Given the description of an element on the screen output the (x, y) to click on. 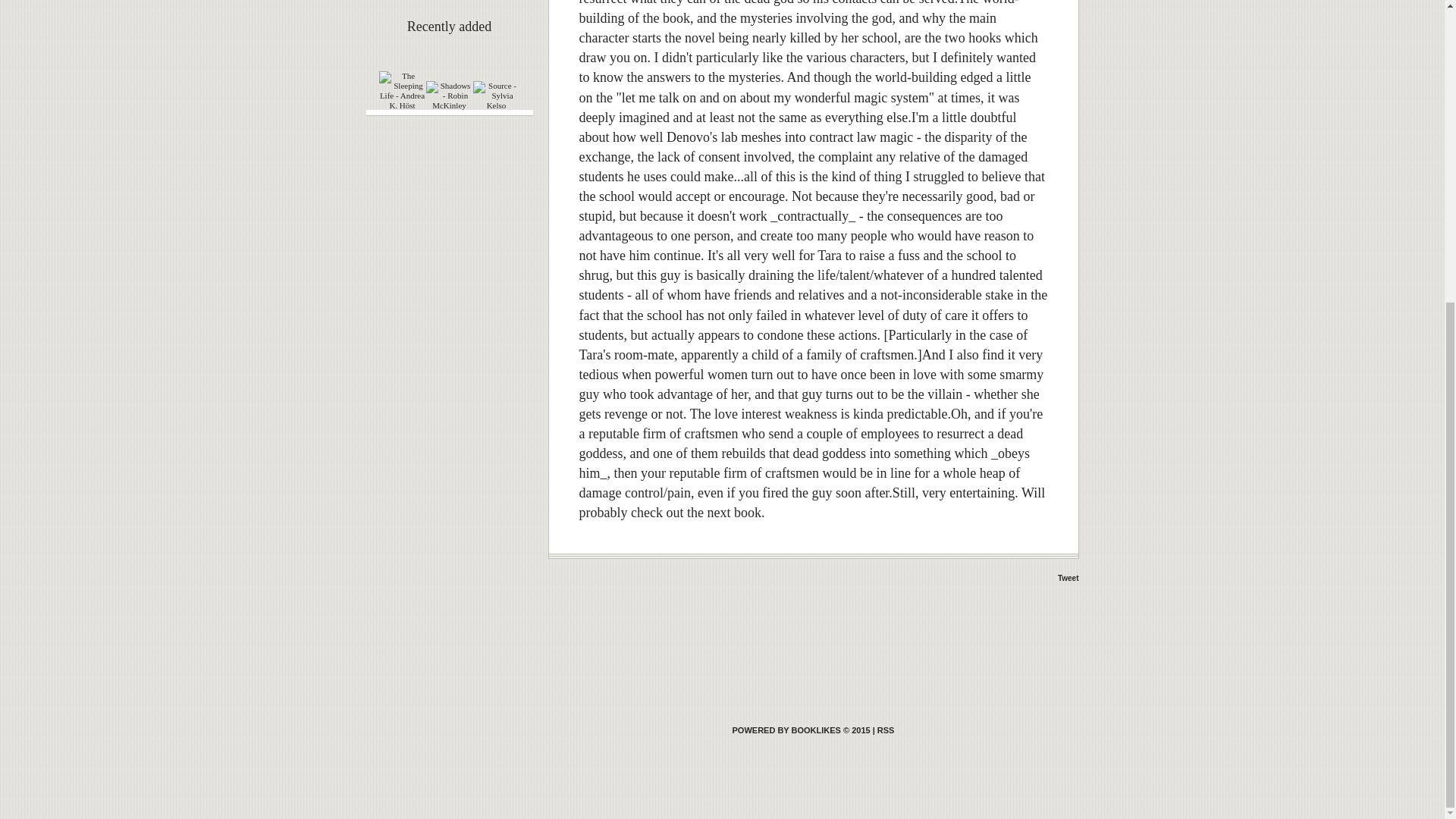
Recently added (449, 26)
Tweet (1068, 578)
BookLikes (886, 729)
BookLikes (801, 729)
RSS (886, 729)
